Given the description of an element on the screen output the (x, y) to click on. 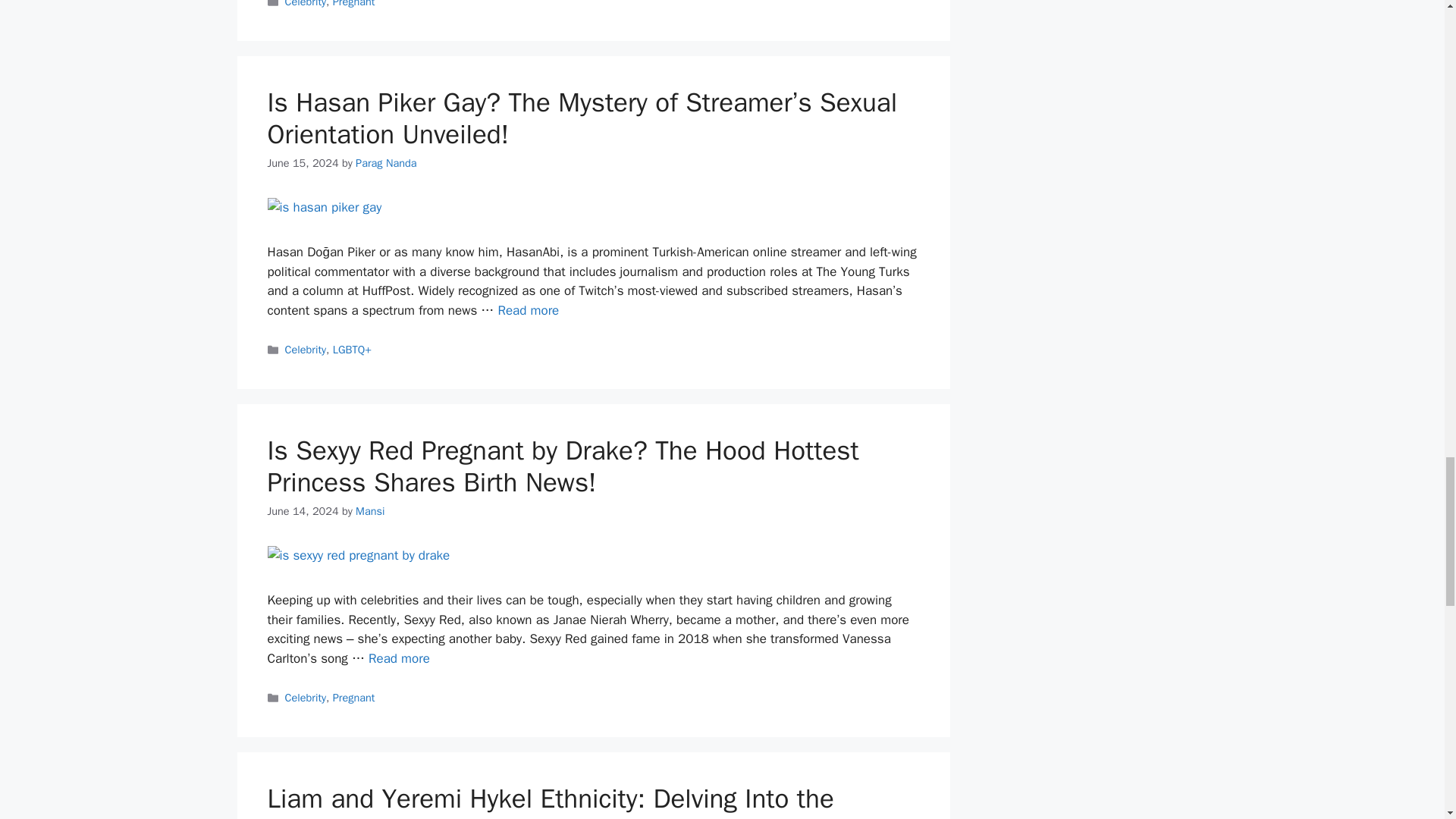
View all posts by Mansi (369, 510)
View all posts by Parag Nanda (385, 162)
